Given the description of an element on the screen output the (x, y) to click on. 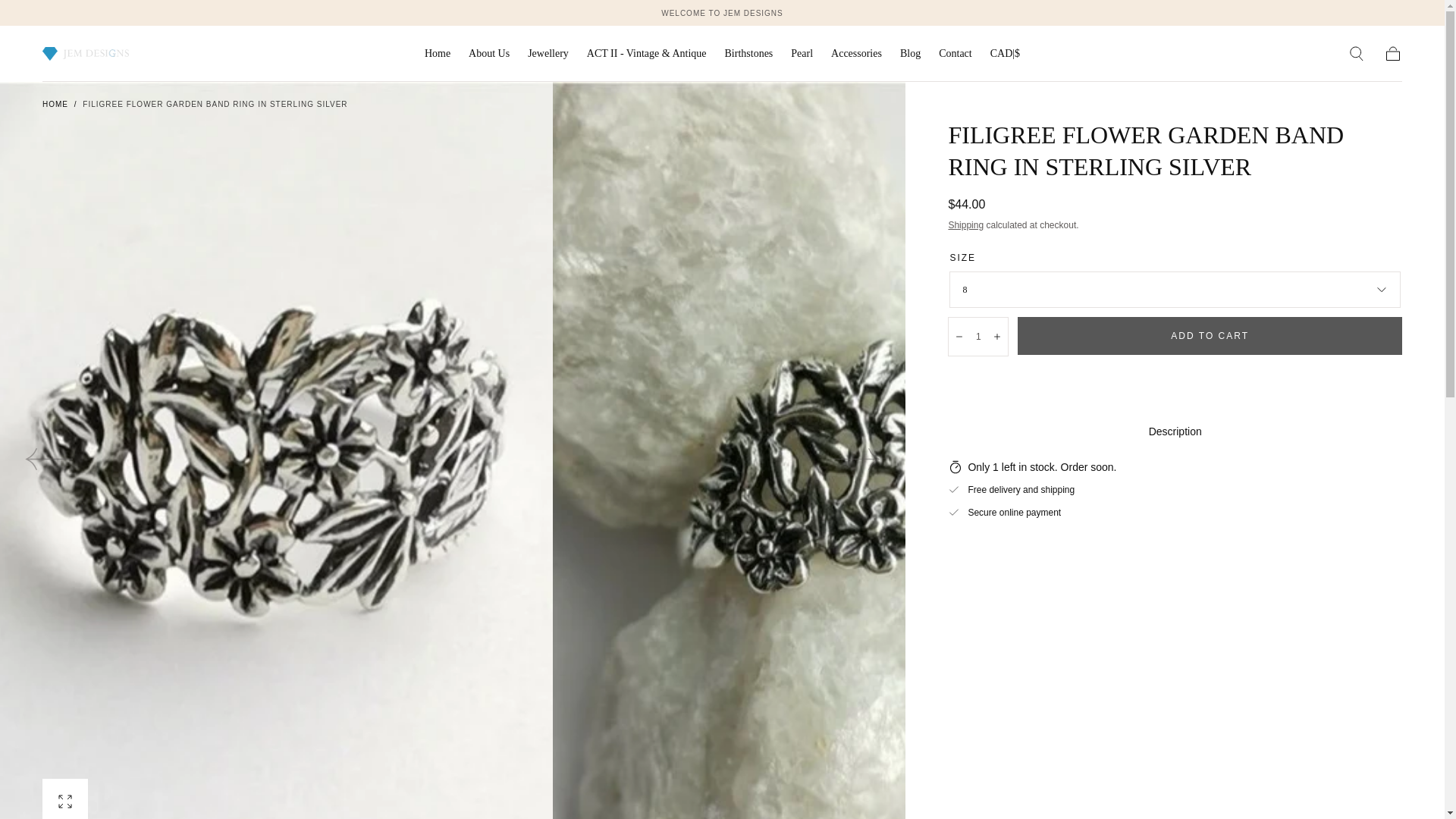
SKIP TO CONTENT (67, 18)
All products (722, 13)
Cart (1393, 54)
WELCOME TO JEM DESIGNS (722, 13)
